Given the description of an element on the screen output the (x, y) to click on. 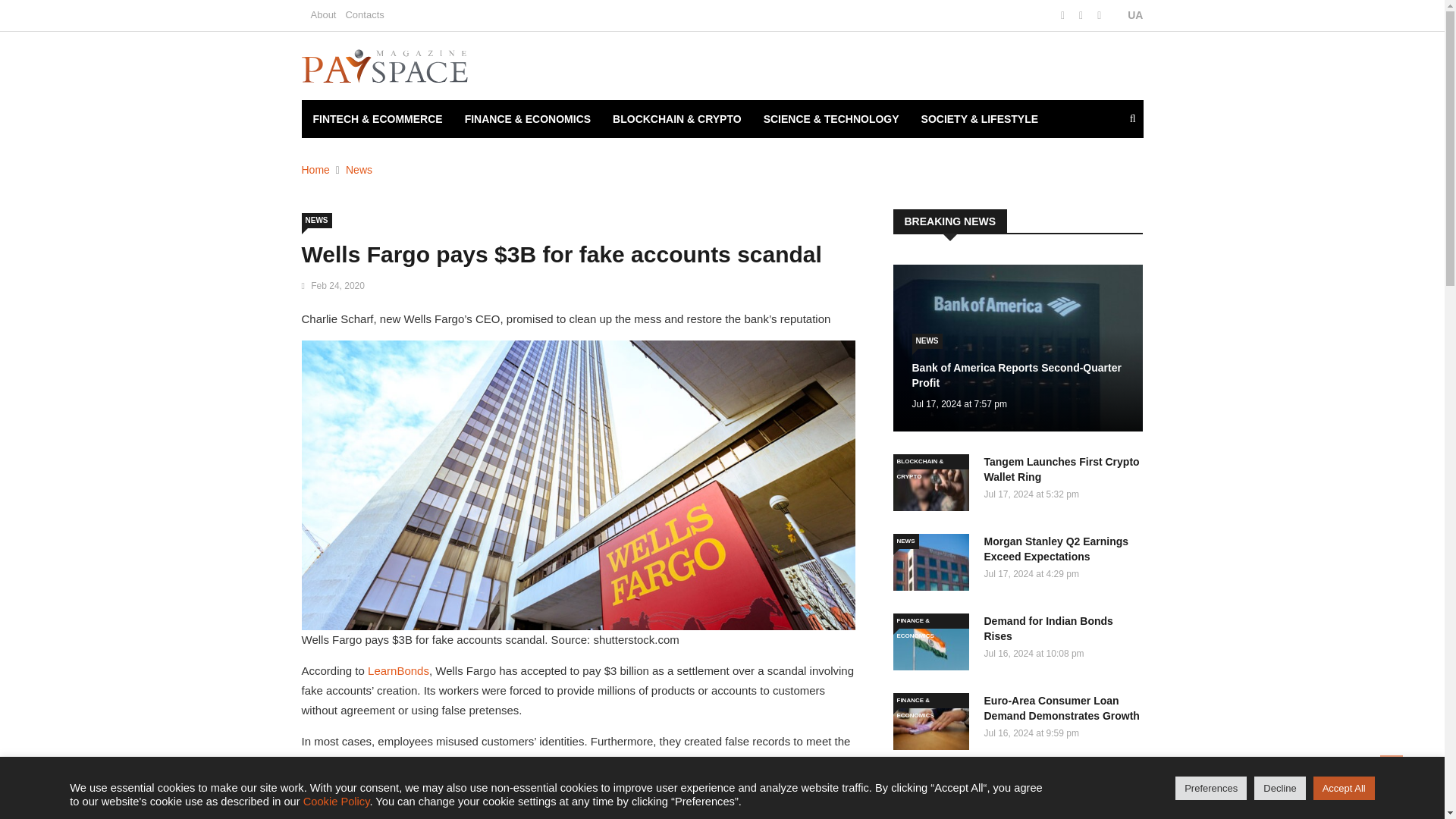
Twitter (1082, 15)
Facebook (1064, 15)
News (359, 169)
LearnBonds (398, 670)
BIN CHECKER (349, 157)
UA (1127, 15)
About (323, 14)
LinkedIn (1098, 15)
Back to Top (1391, 766)
NEWS (316, 220)
Home (315, 169)
Contacts (364, 14)
